Given the description of an element on the screen output the (x, y) to click on. 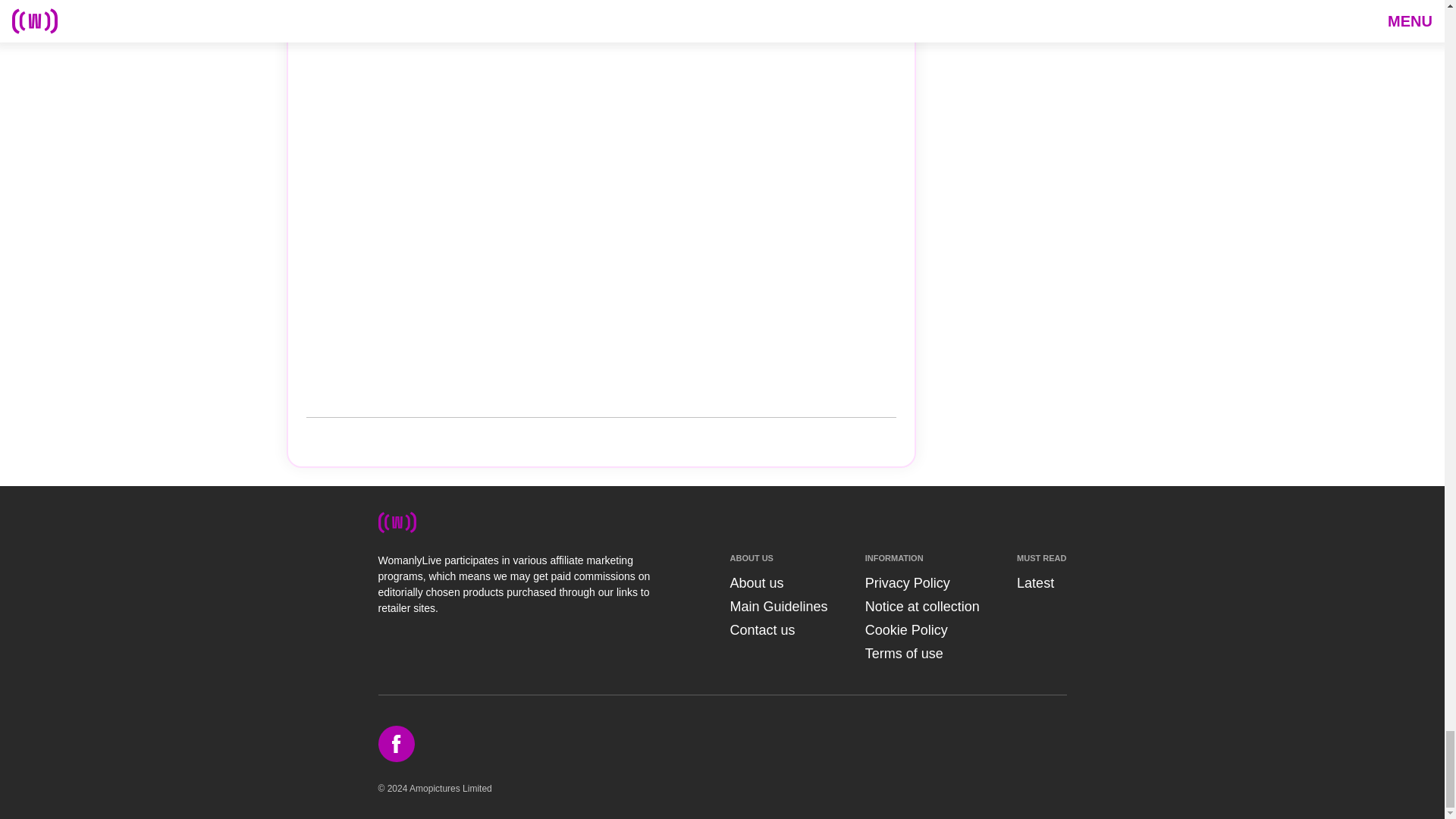
Privacy Policy (907, 582)
Main Guidelines (778, 606)
Notice at collection (921, 606)
About us (756, 582)
Contact us (761, 630)
